Given the description of an element on the screen output the (x, y) to click on. 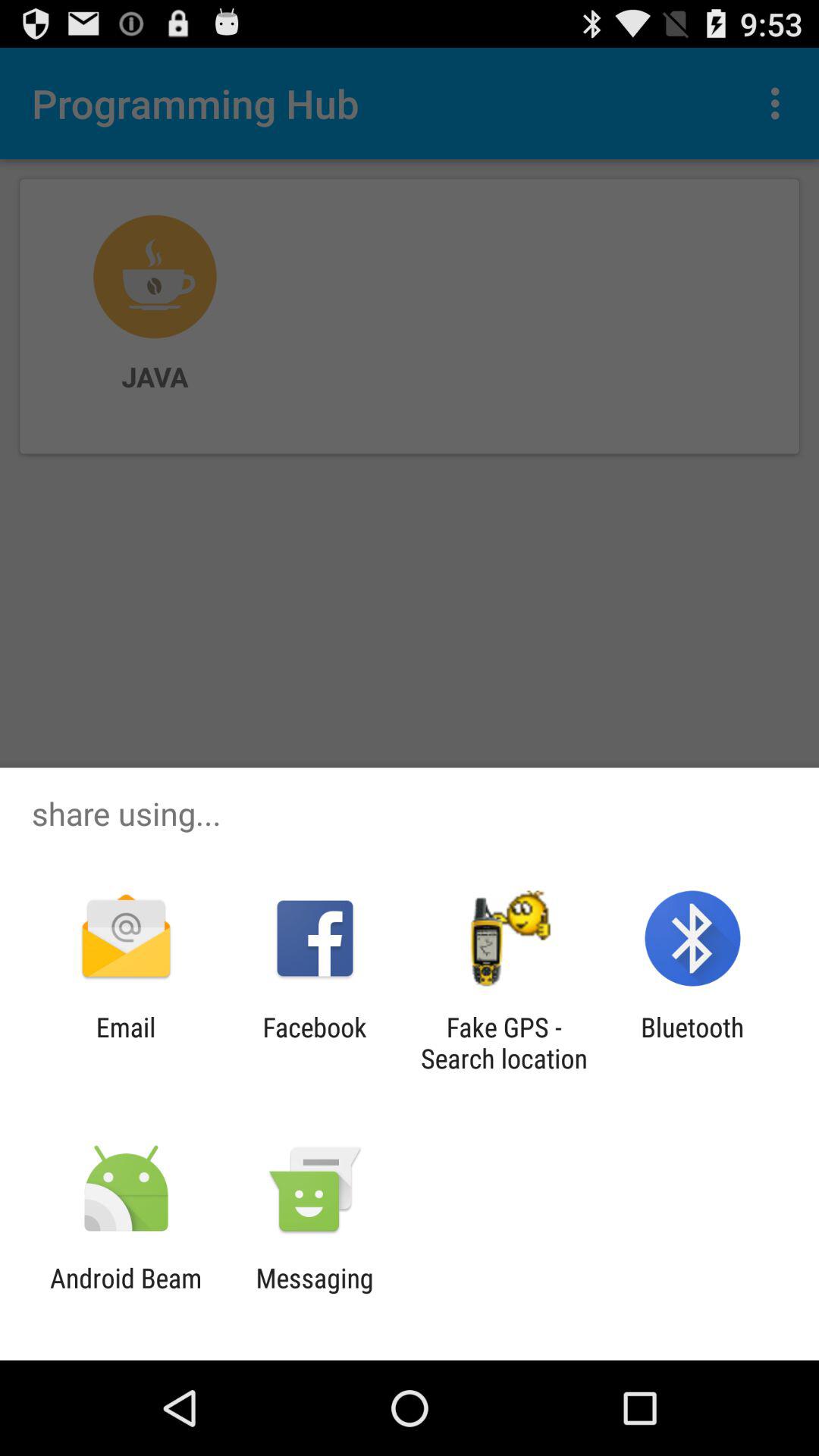
turn off the app to the right of facebook item (503, 1042)
